Given the description of an element on the screen output the (x, y) to click on. 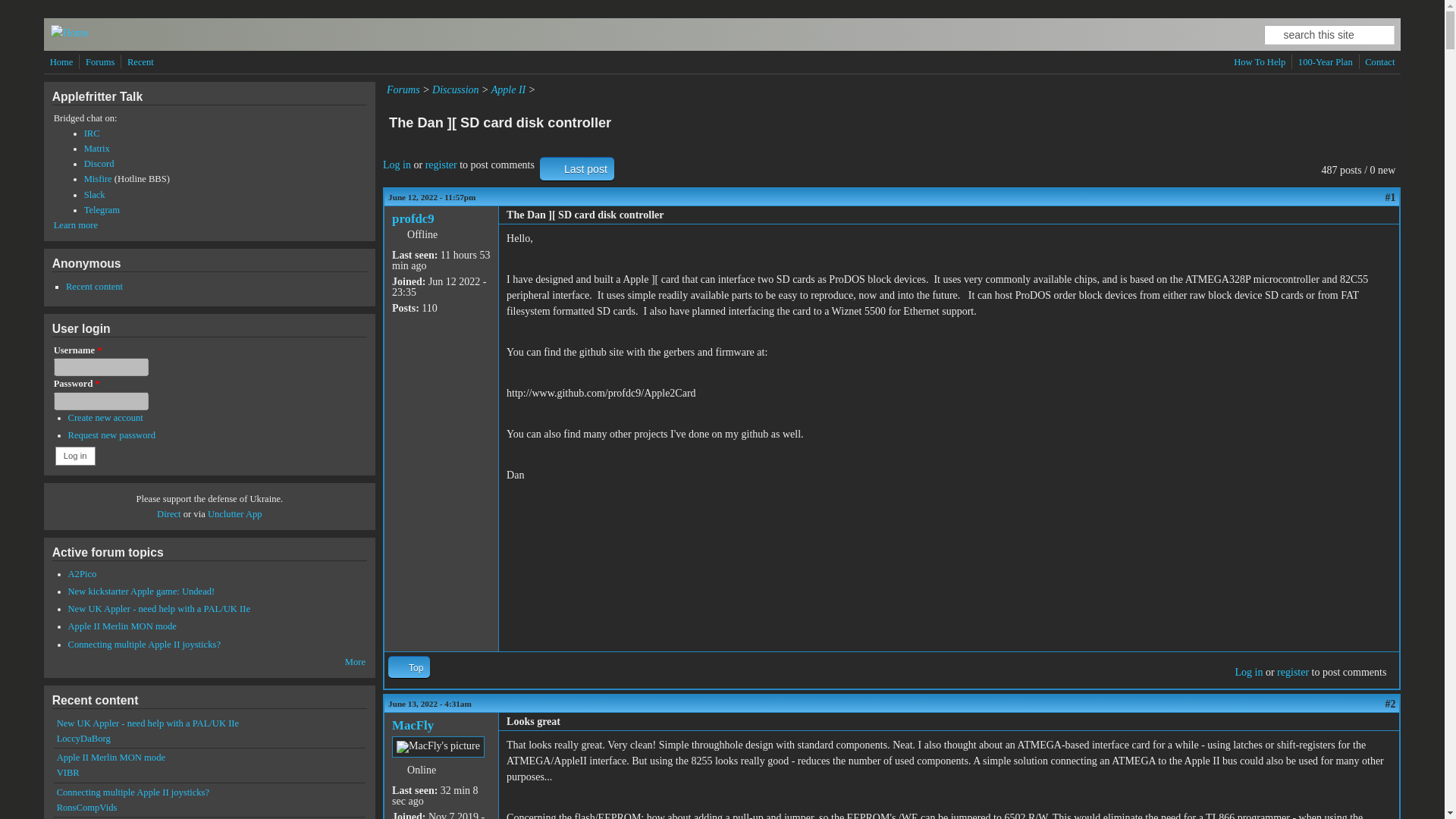
register (441, 164)
Forums (99, 61)
Last post (577, 168)
profdc9 (412, 218)
MacFly (412, 725)
Forums (403, 89)
search this site (1328, 35)
Home (61, 61)
Log in (1248, 672)
Log in (396, 164)
Contact (1379, 61)
Top (408, 667)
View user profile. (412, 725)
Apple II (508, 89)
register (1292, 672)
